Given the description of an element on the screen output the (x, y) to click on. 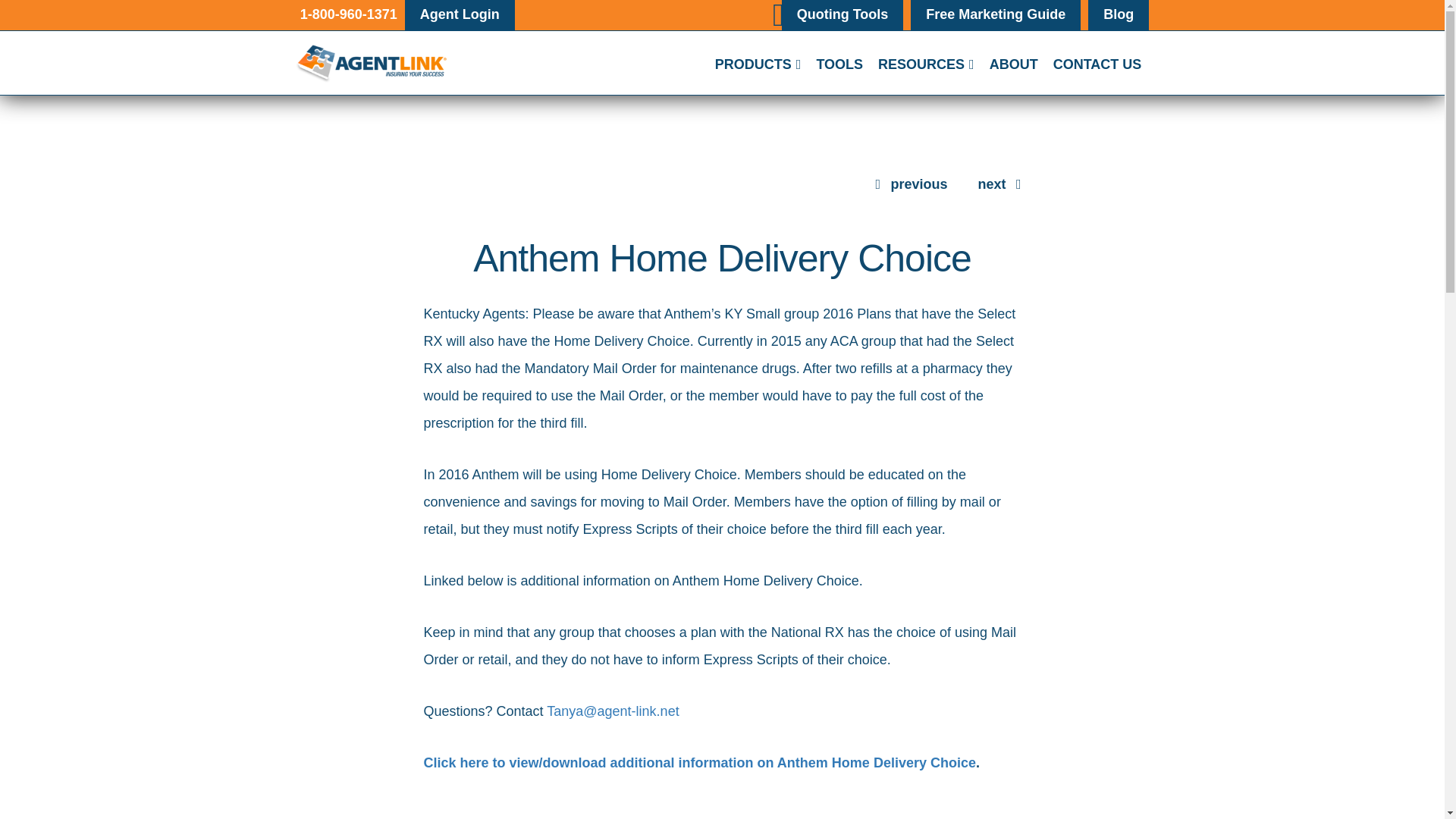
AgentLink (370, 64)
Blog (1118, 14)
Quoting Tools (842, 14)
Agent Login (459, 14)
TOOLS (839, 64)
Free Marketing Guide (995, 14)
1-800-960-1371 (347, 11)
RESOURCES (925, 64)
PRODUCTS (758, 64)
